Given the description of an element on the screen output the (x, y) to click on. 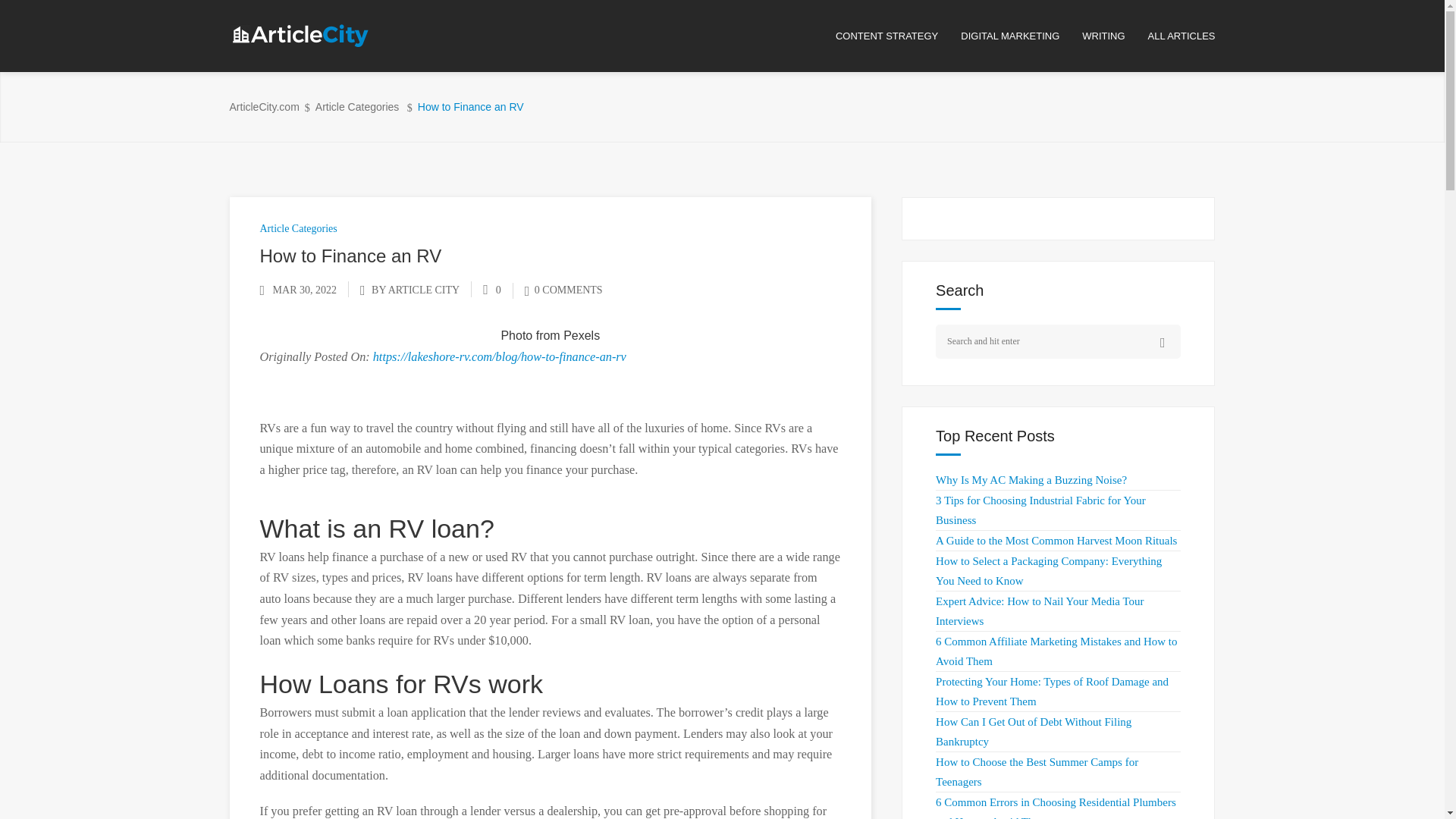
CONTENT STRATEGY (897, 36)
Like this (491, 289)
Why Is My AC Making a Buzzing Noise? (1031, 480)
How Can I Get Out of Debt Without Filing Bankruptcy (1033, 731)
A Guide to the Most Common Harvest Moon Rituals (1056, 540)
3 Tips for Choosing Industrial Fabric for Your Business (1040, 510)
Article Categories (356, 107)
0 COMMENTS (563, 289)
ArticleCity.com (263, 107)
